Given the description of an element on the screen output the (x, y) to click on. 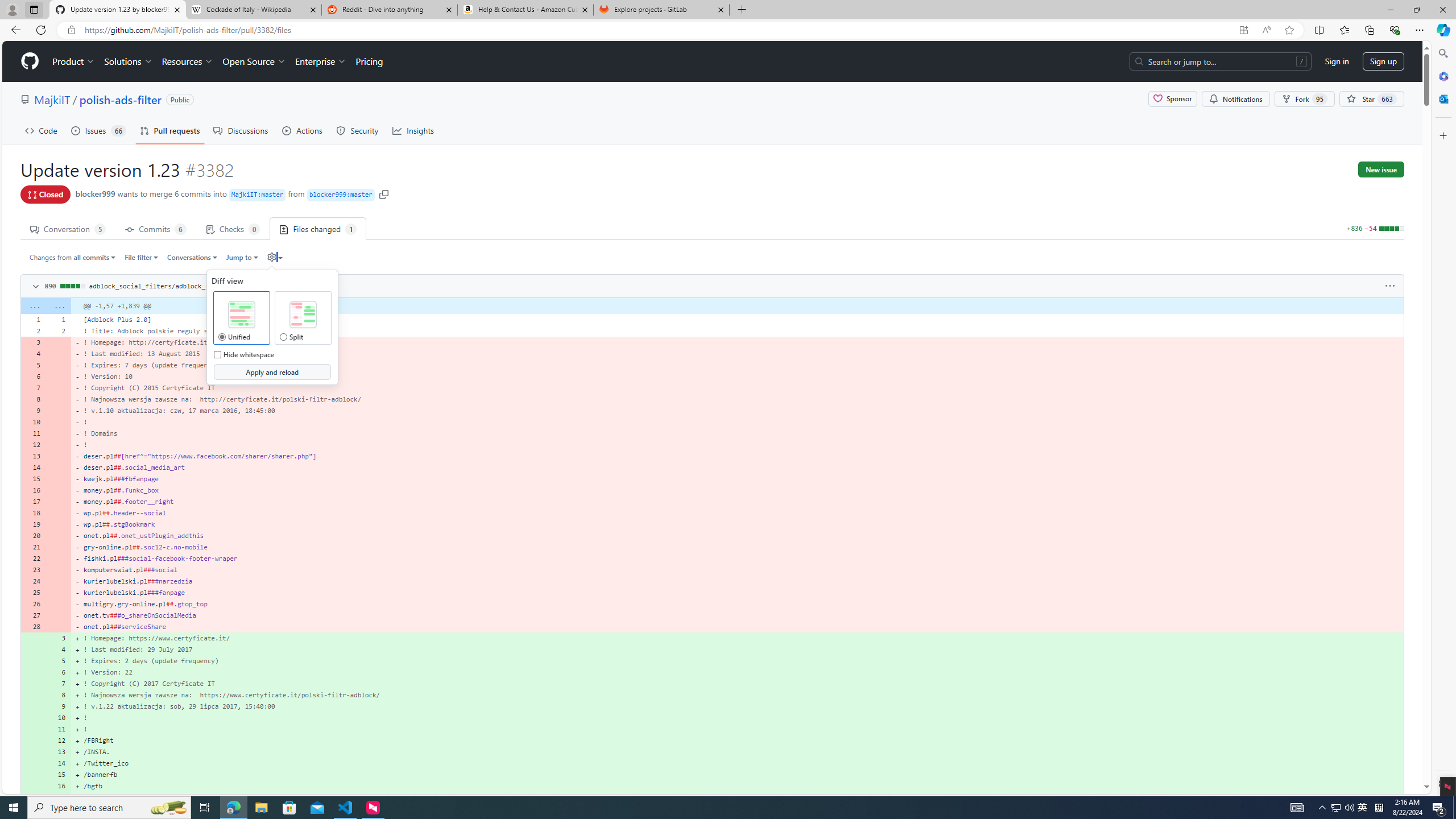
 Commits 6 (155, 228)
Pull requests (170, 130)
- kwejk.pl###fbfanpage (737, 478)
+ /bgfb  (737, 785)
+ ! (737, 728)
blocker999 : master (340, 195)
Changes from all commits (72, 257)
Show options (1390, 285)
Sponsor (1171, 98)
- fishki.pl###social-facebook-footer-wraper (737, 558)
